Given the description of an element on the screen output the (x, y) to click on. 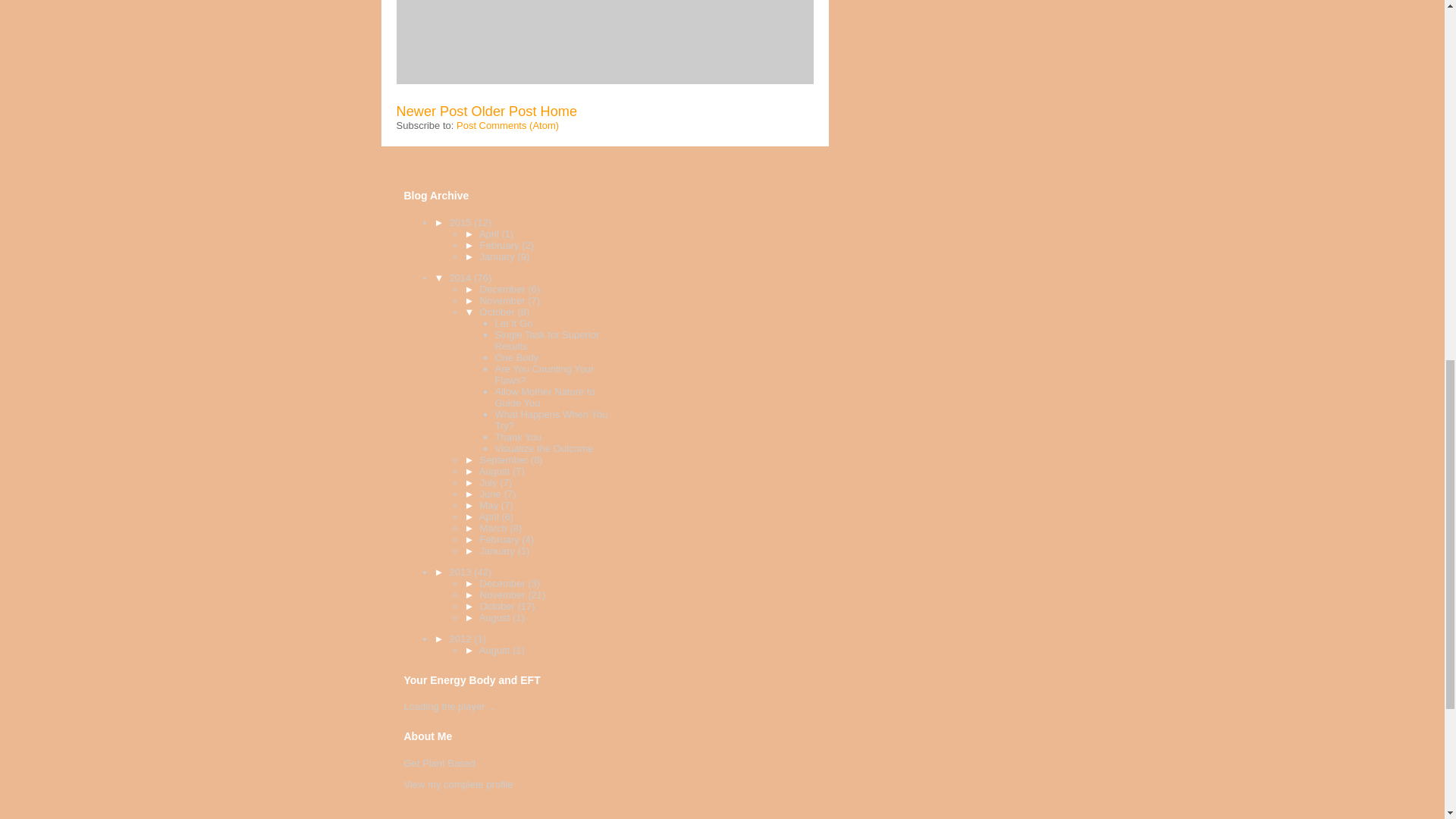
Newer Post (431, 111)
Allow Mother Nature to Guide You (544, 396)
One Body (516, 357)
Single Task for Superior Results (546, 340)
Are You Counting Your Flaws? (544, 374)
November (504, 300)
Home (559, 111)
February (501, 244)
Older Post (504, 111)
Older Post (504, 111)
Thank You (517, 437)
2015 (461, 222)
What Happens When You Try? (551, 419)
2014 (461, 277)
Newer Post (431, 111)
